Given the description of an element on the screen output the (x, y) to click on. 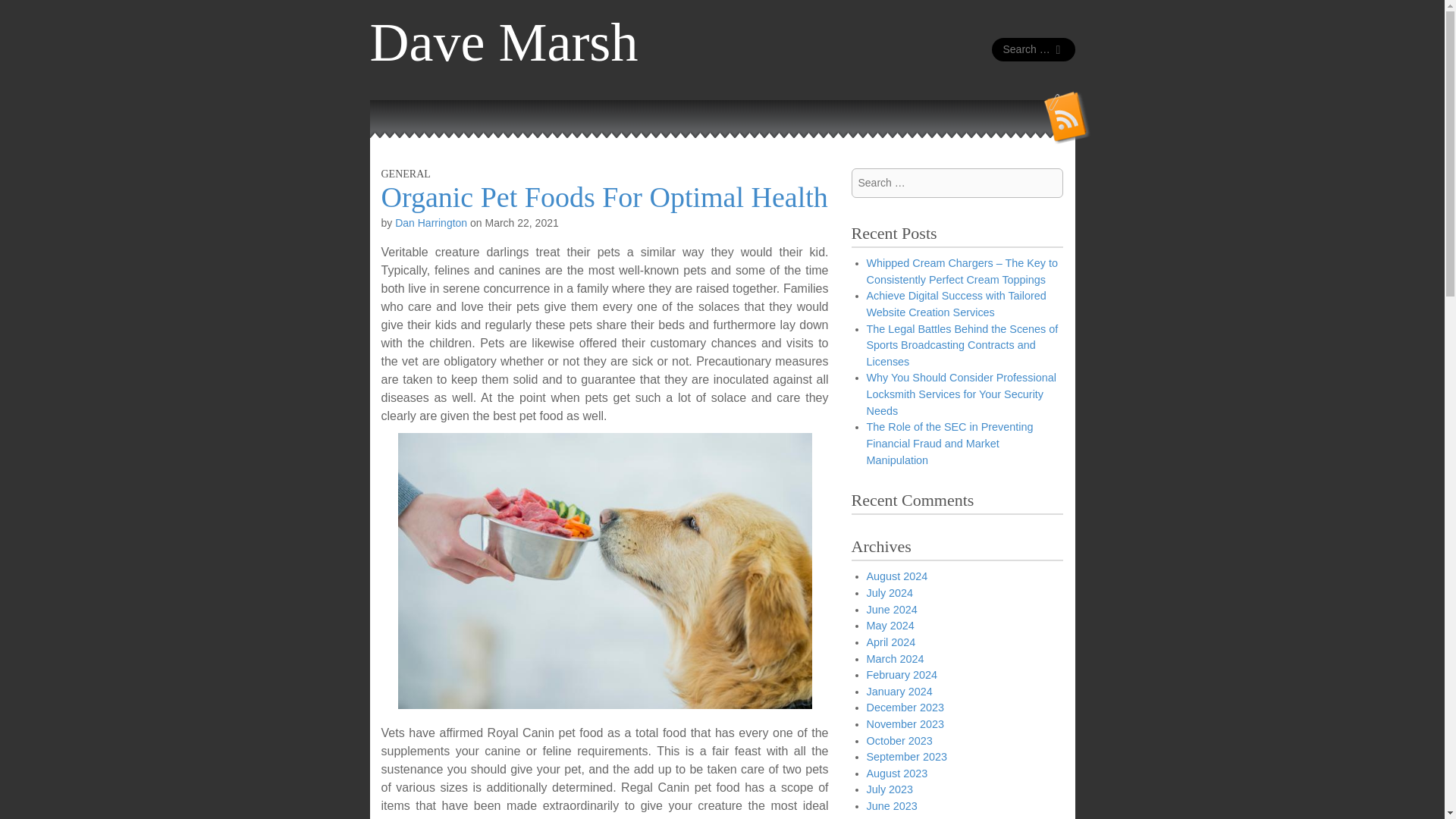
November 2023 (904, 724)
August 2023 (896, 773)
Dan Harrington (430, 223)
April 2024 (890, 642)
Posts by Dan Harrington (430, 223)
March 2024 (894, 658)
August 2024 (896, 576)
February 2024 (901, 674)
